Given the description of an element on the screen output the (x, y) to click on. 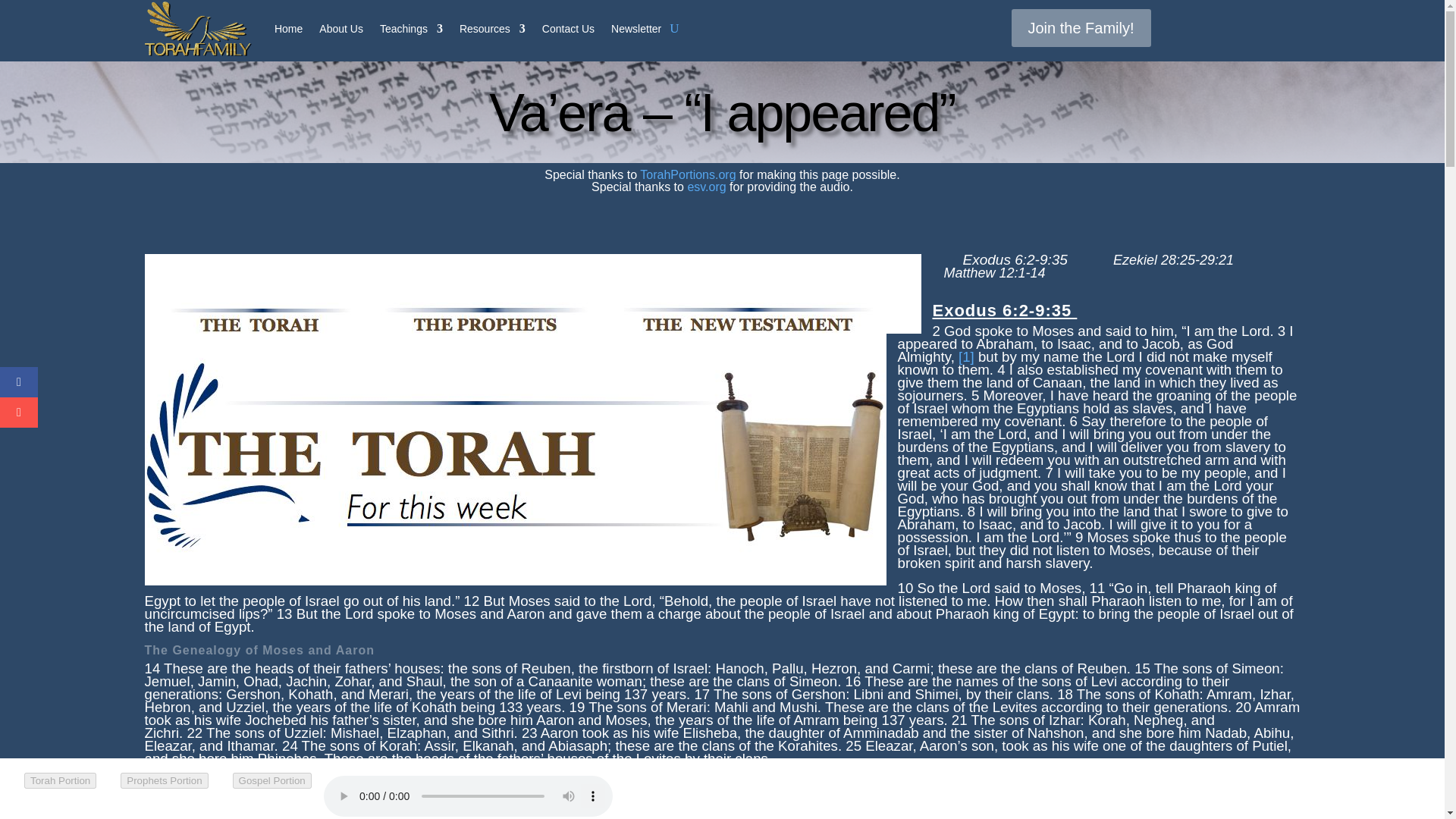
Resources (492, 28)
Teachings (411, 28)
Hebrew 'El Shaddai' (966, 356)
Contact Us (567, 28)
